Given the description of an element on the screen output the (x, y) to click on. 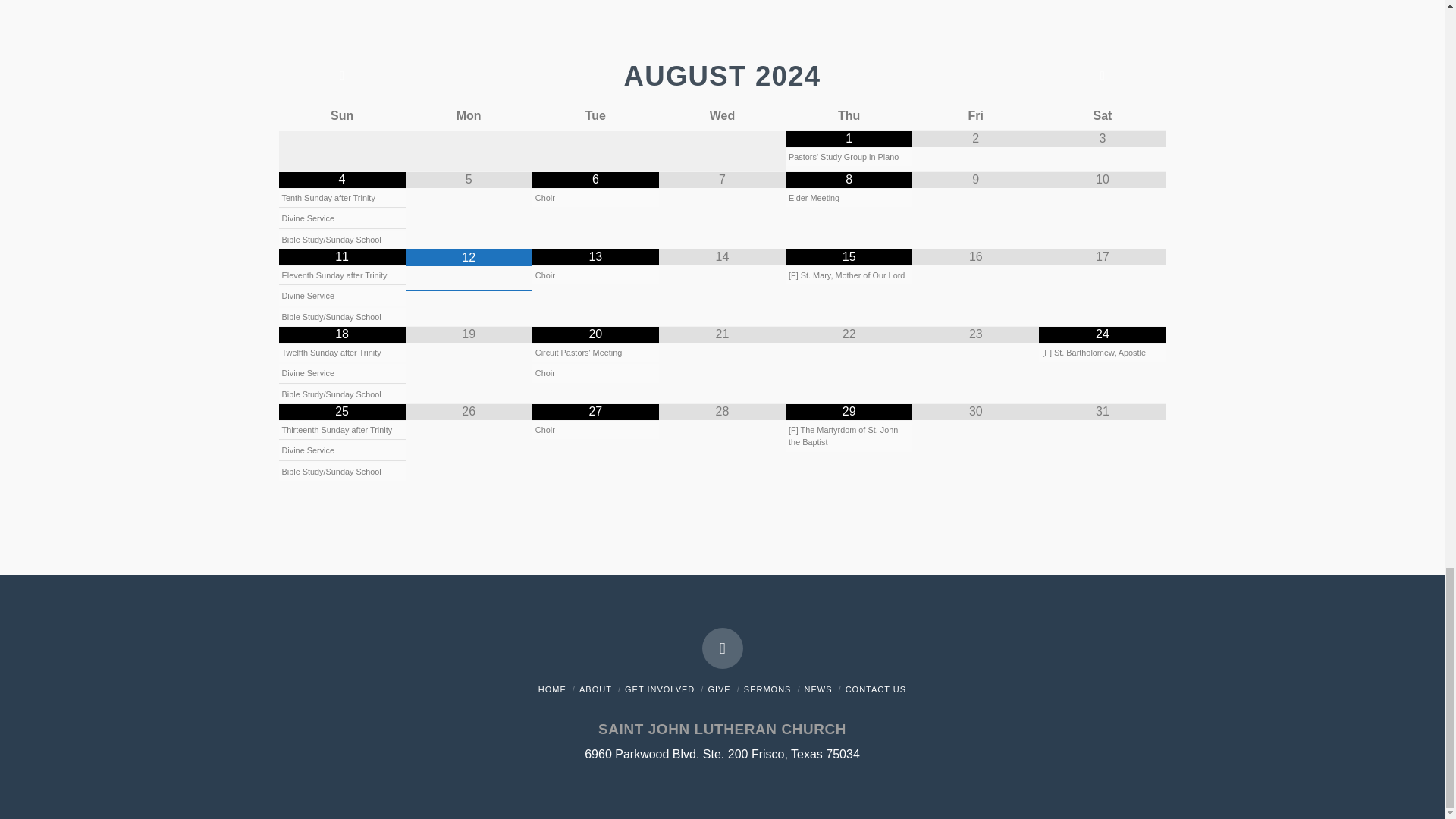
Next Month (1102, 75)
Facebook (721, 648)
Previous Month (342, 75)
